Given the description of an element on the screen output the (x, y) to click on. 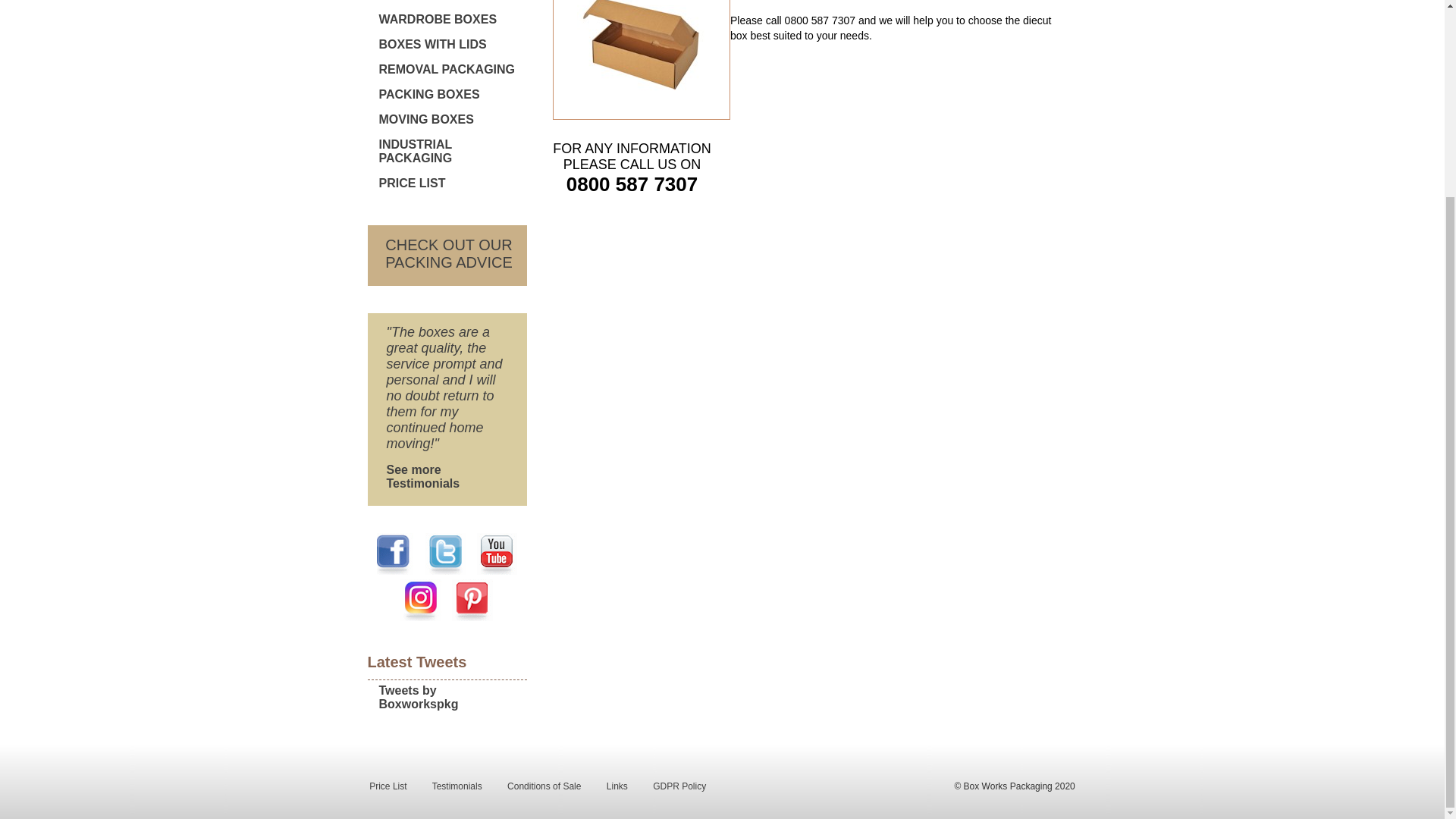
INDUSTRIAL PACKAGING (445, 153)
WARDROBE BOXES (445, 255)
PRICE LIST (445, 21)
BOXES WITH LIDS (445, 185)
MOVING BOXES (445, 46)
PACKING BOXES (445, 121)
REMOVAL PACKAGING (445, 96)
See more Testimonials (445, 71)
